Given the description of an element on the screen output the (x, y) to click on. 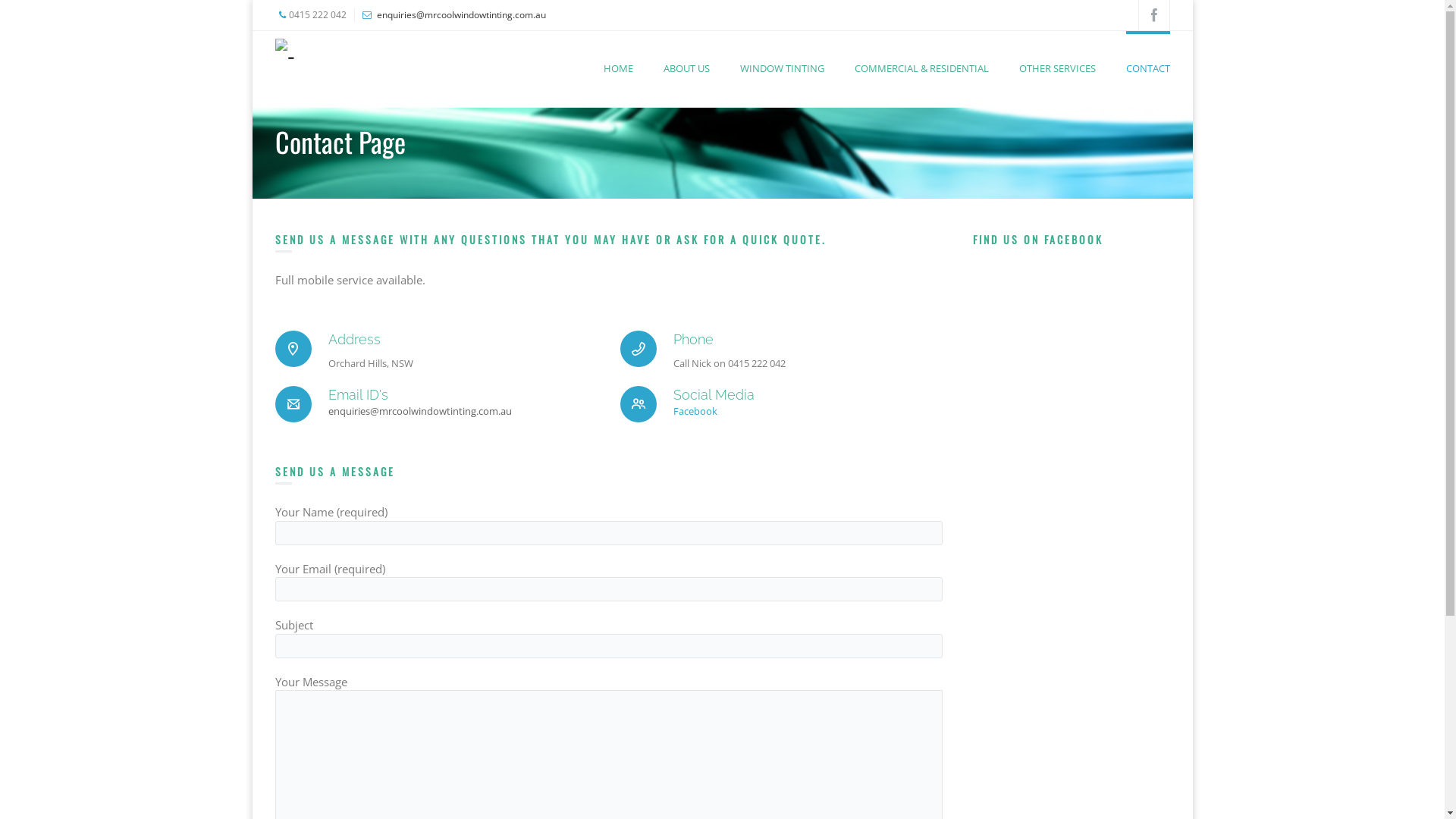
CONTACT Element type: text (1147, 53)
enquiries@mrcoolwindowtinting.com.au Element type: text (419, 411)
enquiries@mrcoolwindowtinting.com.au Element type: text (460, 14)
ABOUT US Element type: text (685, 53)
WINDOW TINTING Element type: text (782, 53)
Facebook Element type: text (695, 411)
COMMERCIAL & RESIDENTIAL Element type: text (920, 53)
HOME Element type: text (618, 53)
OTHER SERVICES Element type: text (1057, 53)
